Given the description of an element on the screen output the (x, y) to click on. 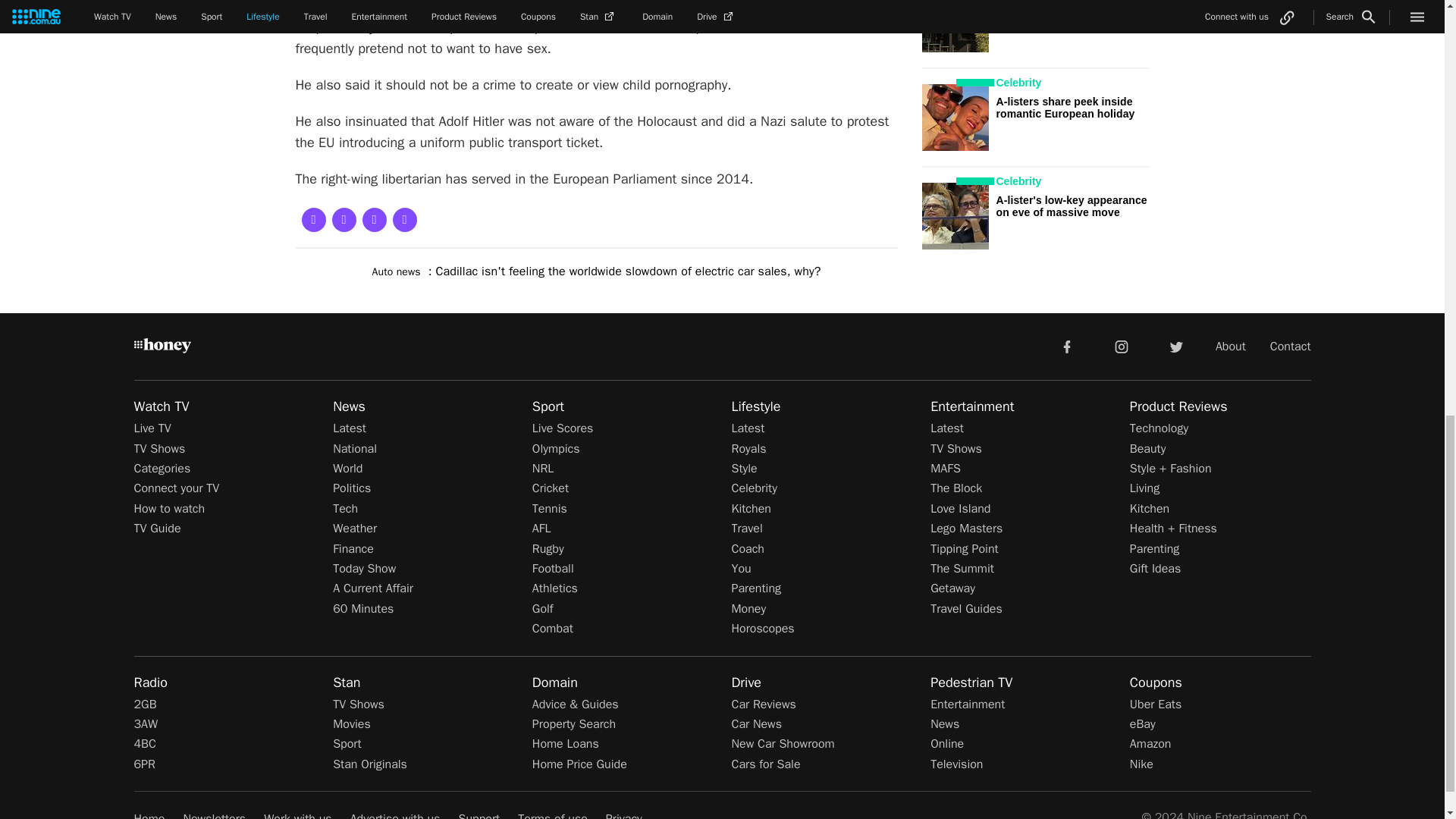
facebook (1066, 345)
About (1230, 346)
Live TV (151, 427)
Watch TV (161, 406)
instagram (1121, 345)
twitter (1175, 345)
Contact (1290, 346)
